Given the description of an element on the screen output the (x, y) to click on. 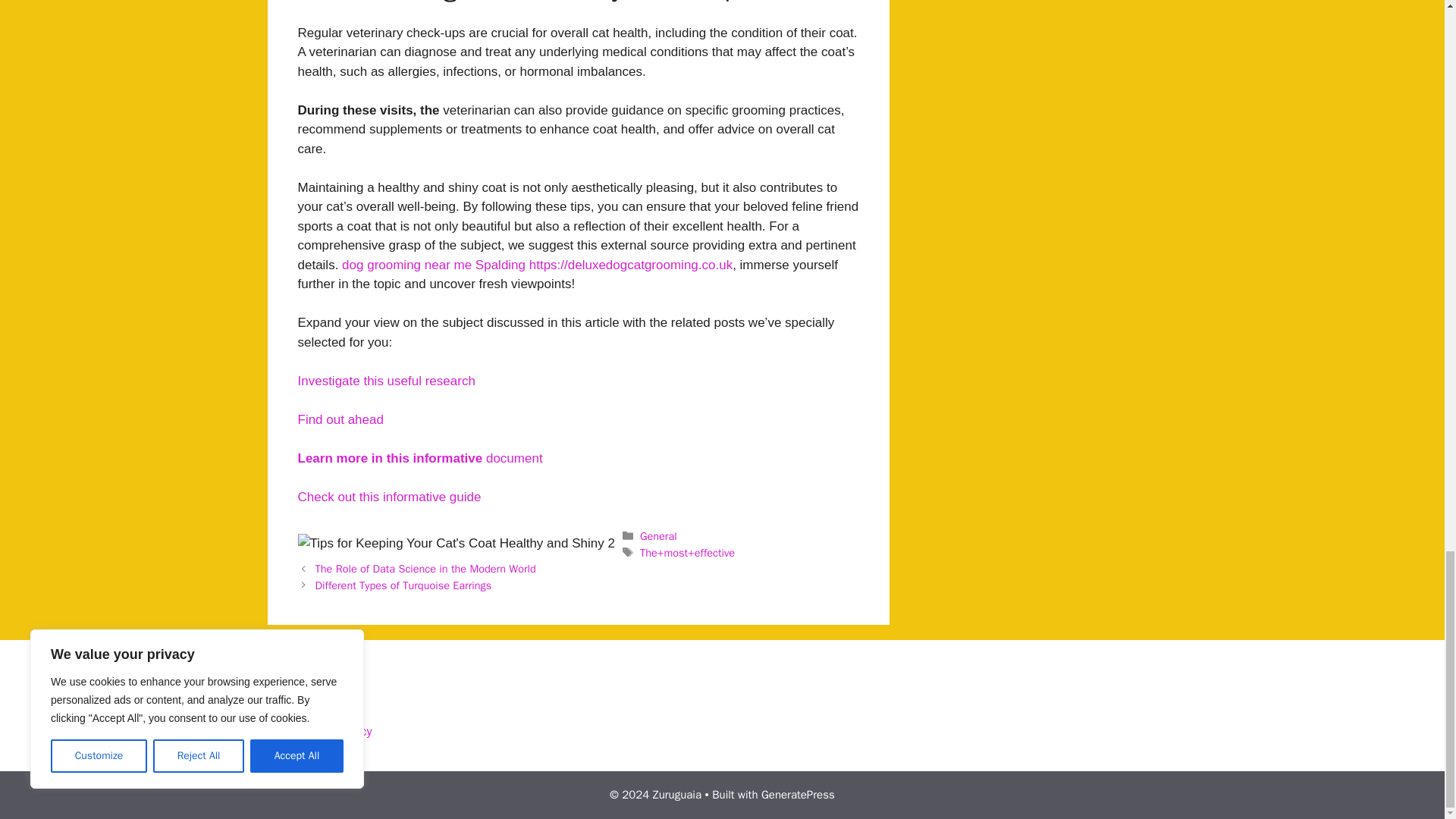
The Role of Data Science in the Modern World (425, 568)
Check out this informative guide (388, 496)
General (658, 535)
Find out ahead (339, 419)
Learn more in this informative document (419, 458)
Different Types of Turquoise Earrings (403, 585)
Investigate this useful research (385, 380)
